Given the description of an element on the screen output the (x, y) to click on. 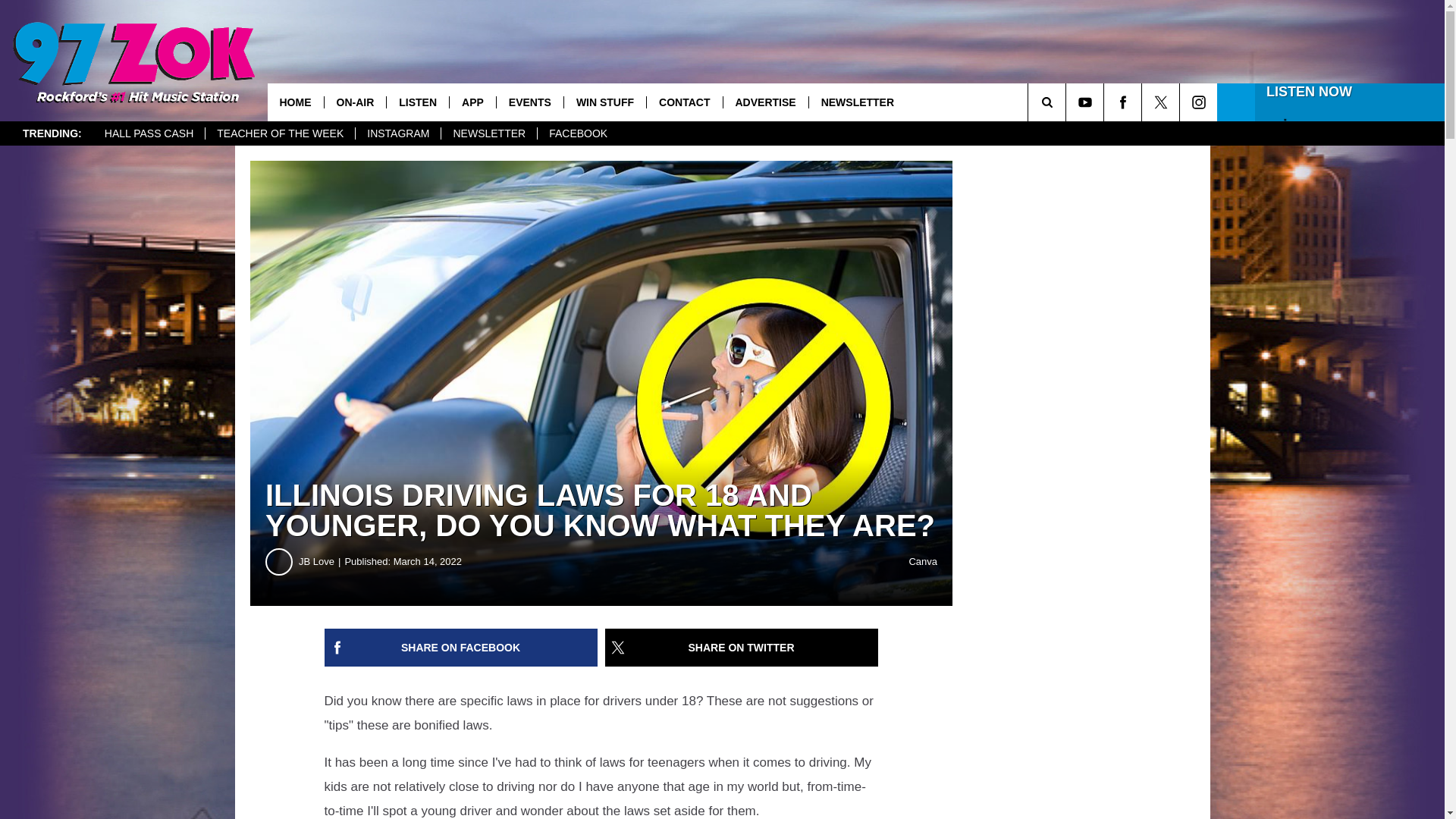
SEARCH (1068, 102)
WIN STUFF (604, 102)
NEWSLETTER (856, 102)
ON-AIR (354, 102)
EVENTS (529, 102)
Share on Twitter (741, 647)
TEACHER OF THE WEEK (280, 133)
CONTACT (684, 102)
NEWSLETTER (489, 133)
FACEBOOK (577, 133)
